Given the description of an element on the screen output the (x, y) to click on. 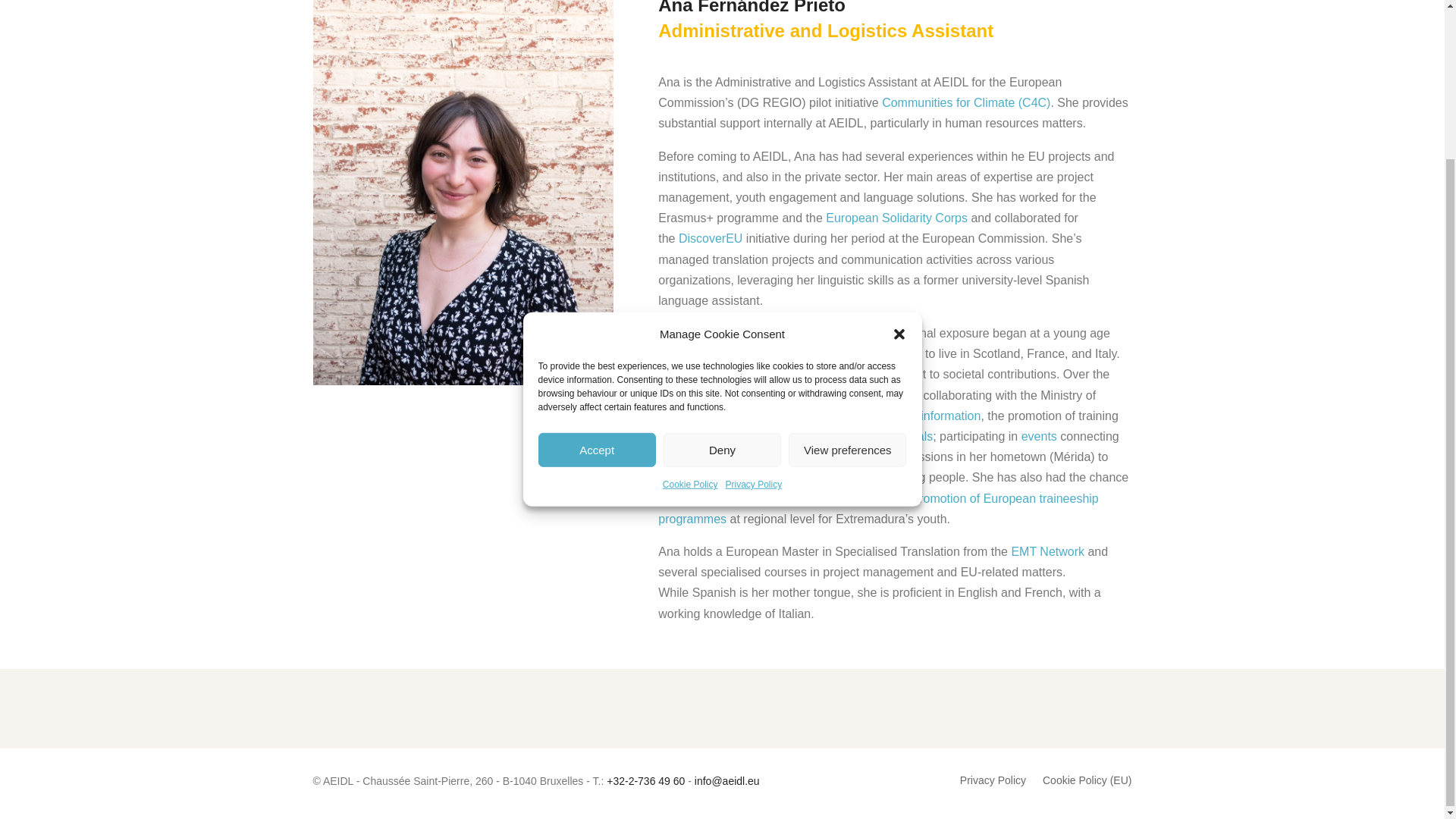
View preferences (847, 261)
Accept (597, 261)
Deny (721, 261)
Cookie Policy (689, 296)
Privacy Policy (753, 296)
